Given the description of an element on the screen output the (x, y) to click on. 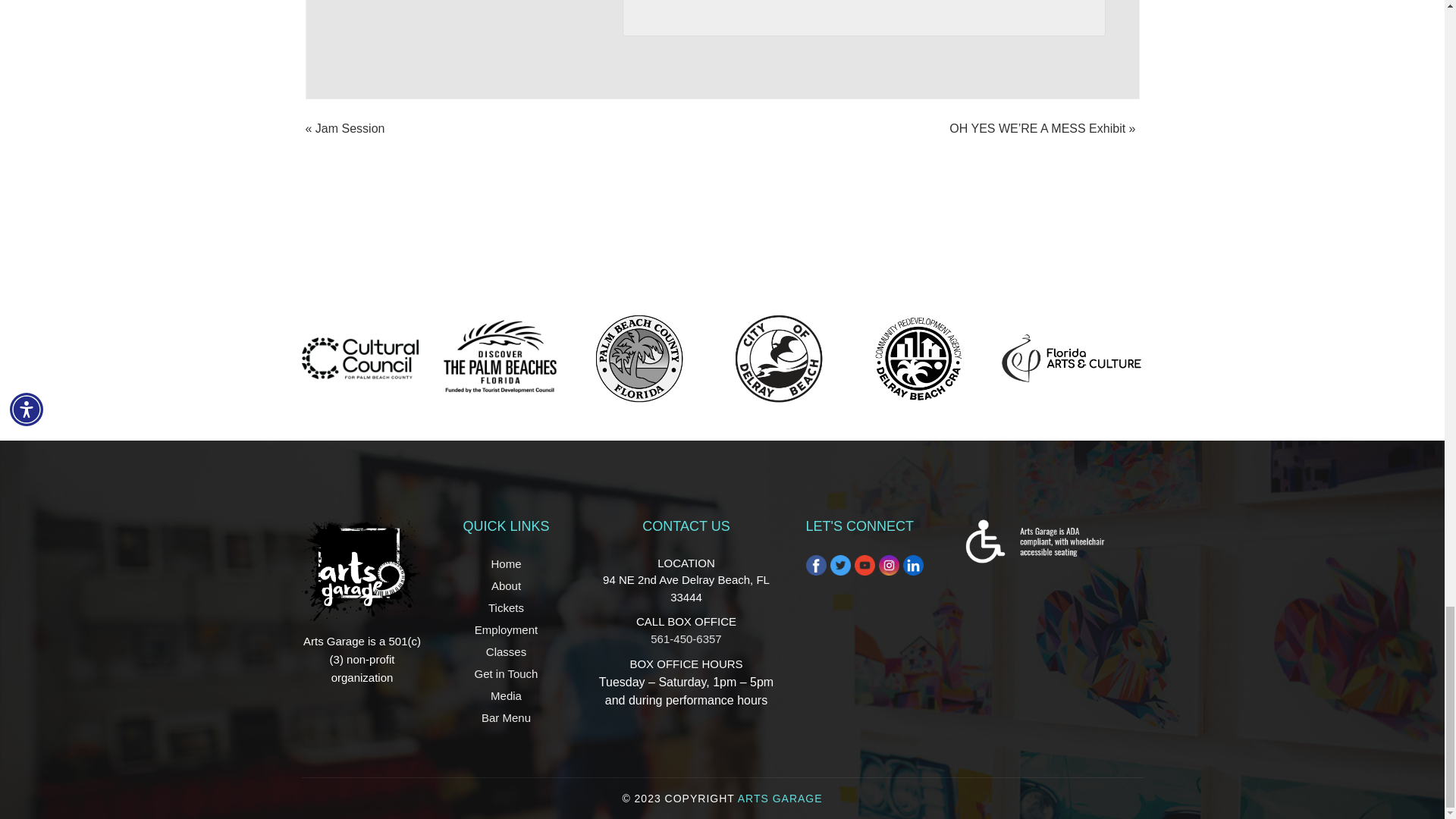
google (868, 13)
